Given the description of an element on the screen output the (x, y) to click on. 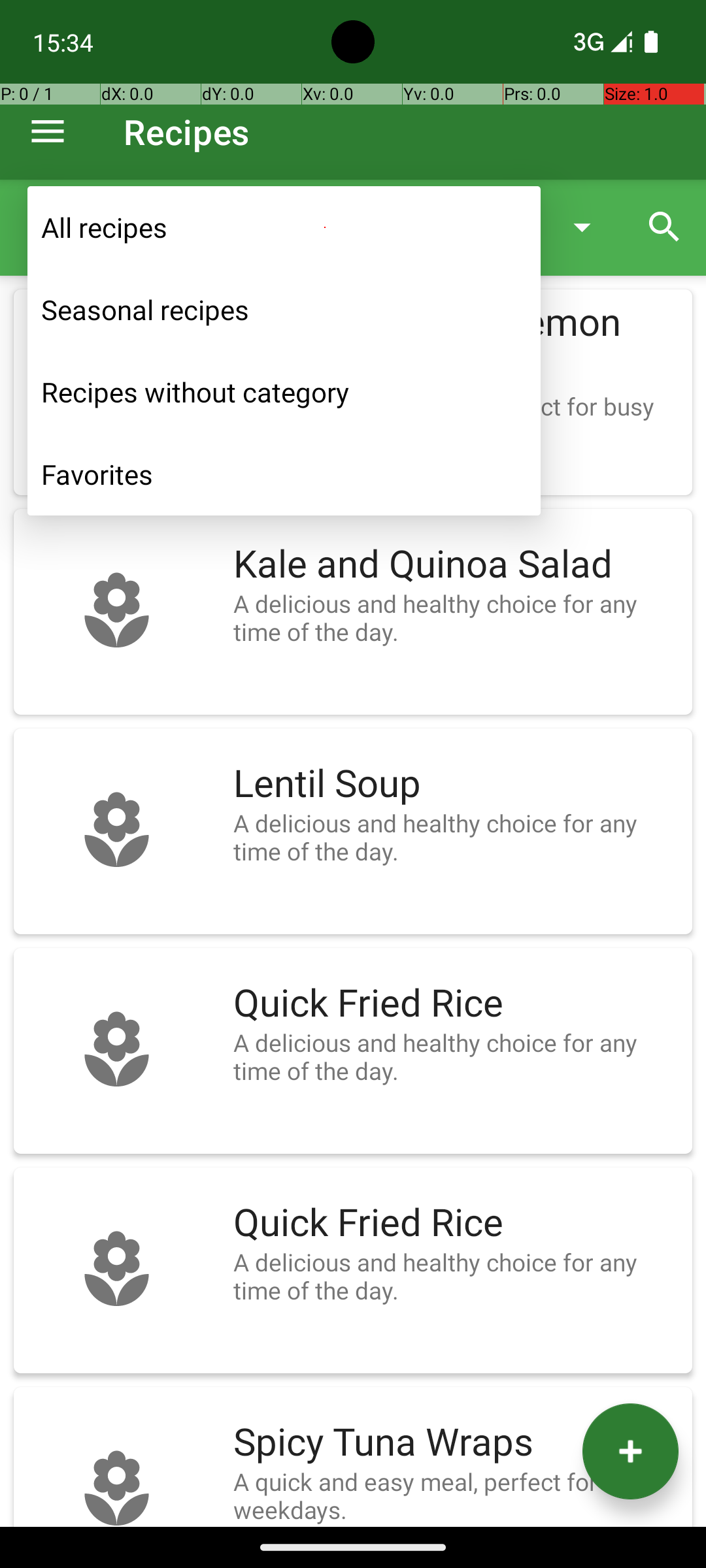
Seasonal recipes Element type: android.widget.CheckedTextView (283, 309)
Recipes without category Element type: android.widget.CheckedTextView (283, 391)
